Given the description of an element on the screen output the (x, y) to click on. 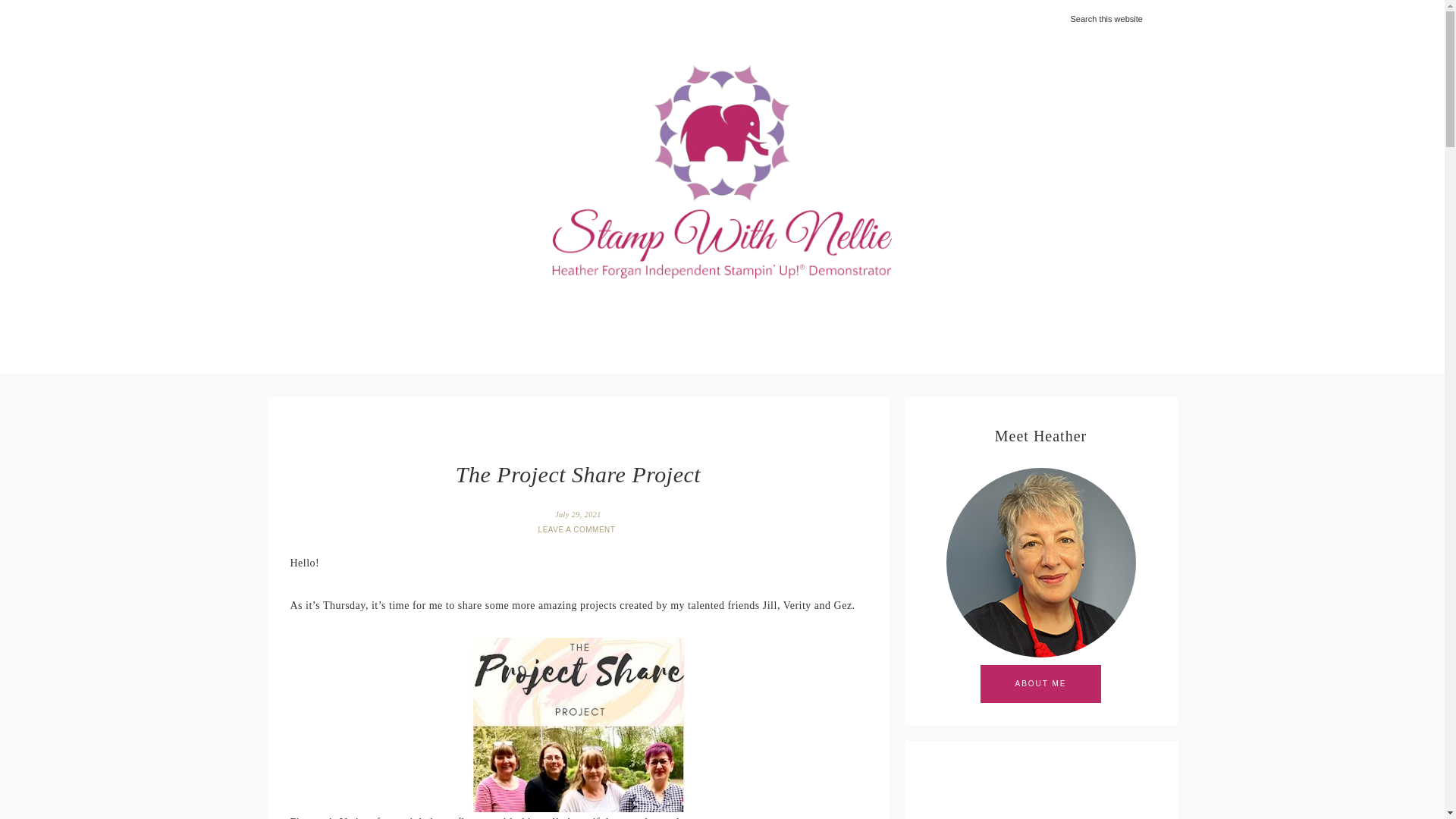
HOME (433, 323)
HOST CODE (687, 323)
CONTACT ME (989, 323)
SHOP NOW (587, 323)
LEAVE A COMMENT (578, 529)
ABOUT (503, 323)
